Given the description of an element on the screen output the (x, y) to click on. 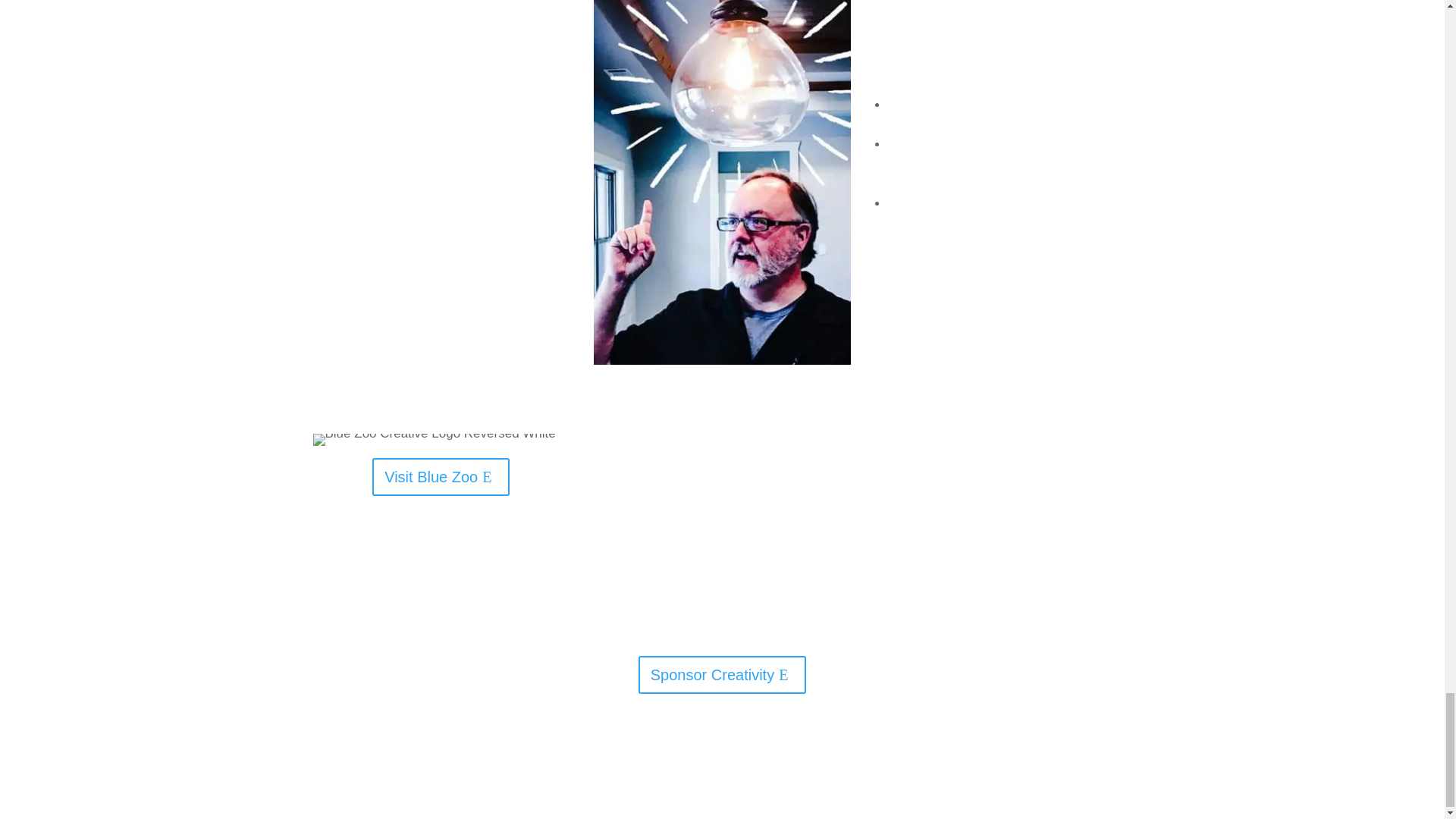
Follow on Youtube (737, 745)
Follow on Pinterest (766, 745)
Follow on Facebook (675, 745)
Follow on Instagram (645, 745)
Follow on LinkedIn (706, 745)
Blue-Zoo-Logo-Reversed-2021 (433, 439)
Follow on RSS (797, 745)
